Given the description of an element on the screen output the (x, y) to click on. 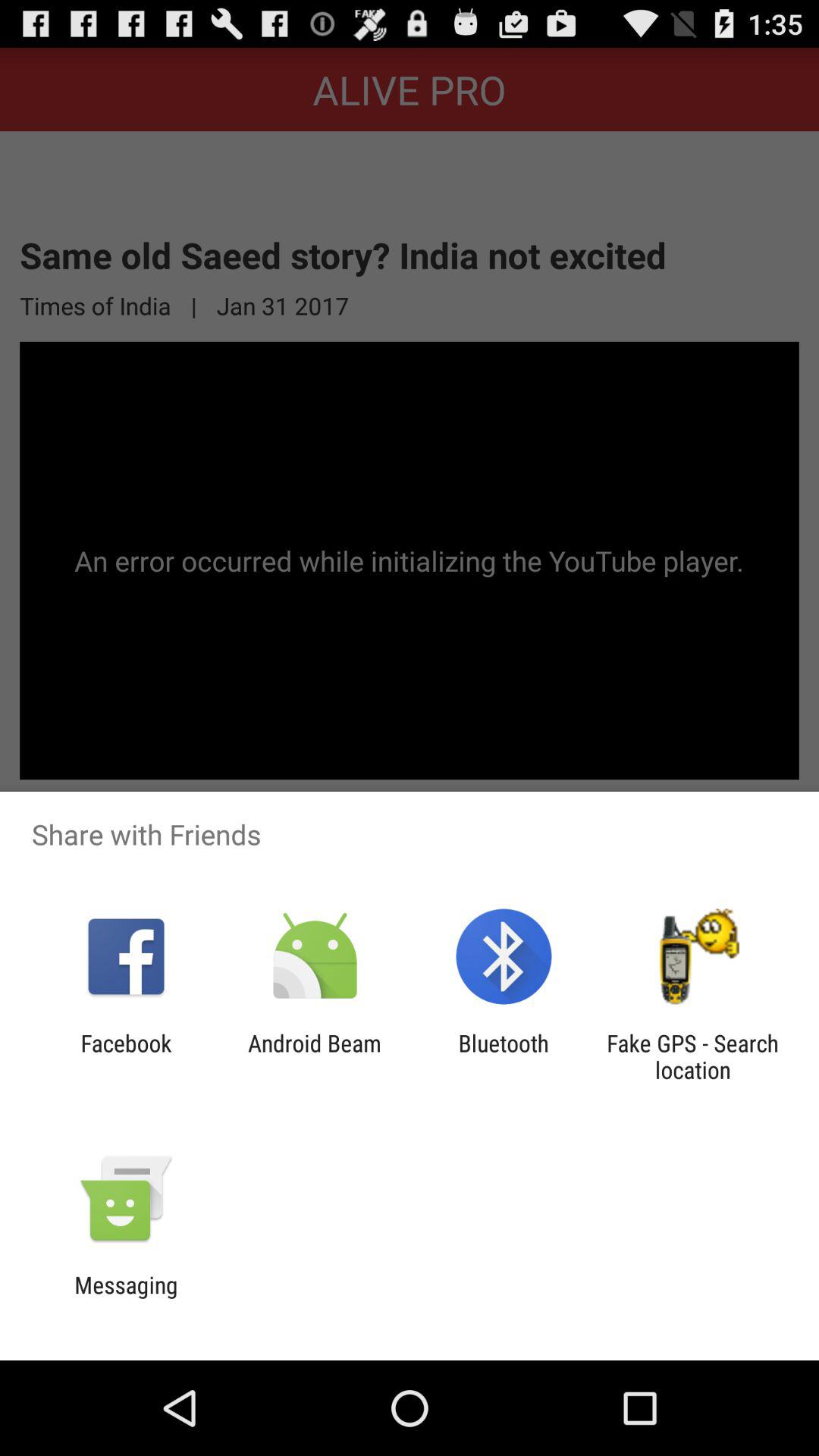
turn on the icon to the left of the fake gps search icon (503, 1056)
